Given the description of an element on the screen output the (x, y) to click on. 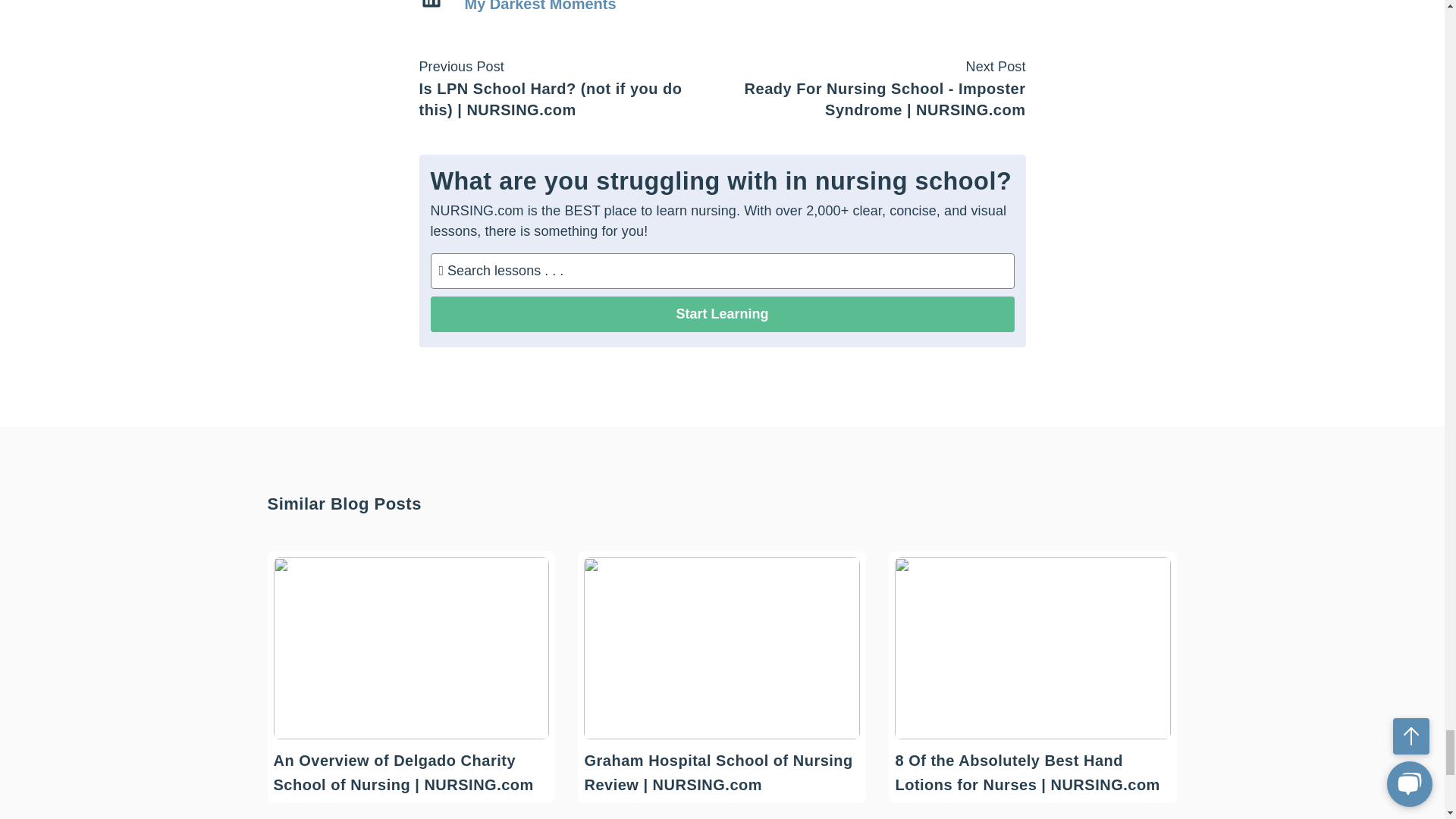
Start Learning (722, 313)
Start Learning (722, 313)
My Darkest Moments (539, 6)
